Given the description of an element on the screen output the (x, y) to click on. 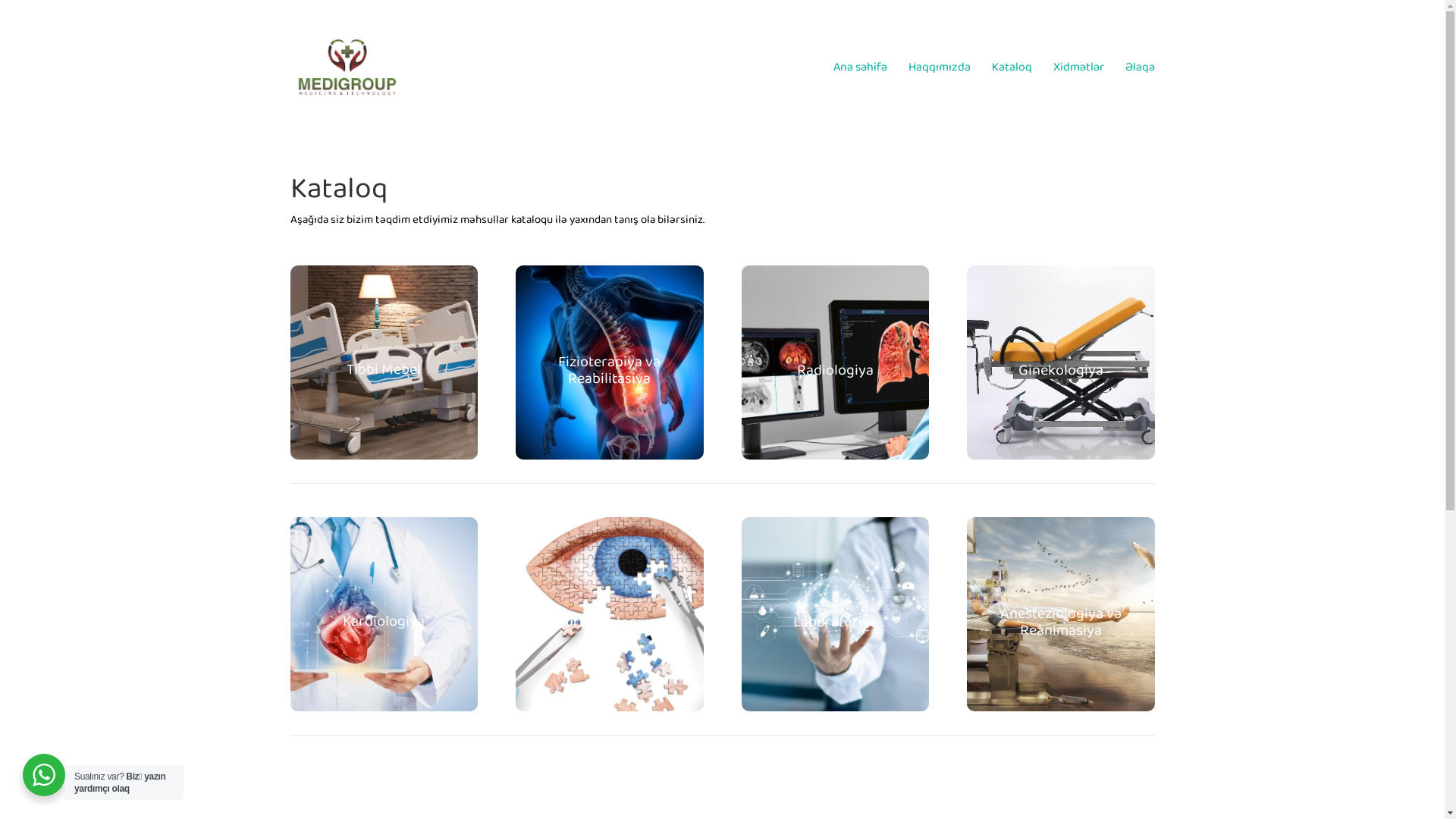
Kataloq Element type: text (1011, 67)
Oftalmologiya Element type: text (608, 621)
